Given the description of an element on the screen output the (x, y) to click on. 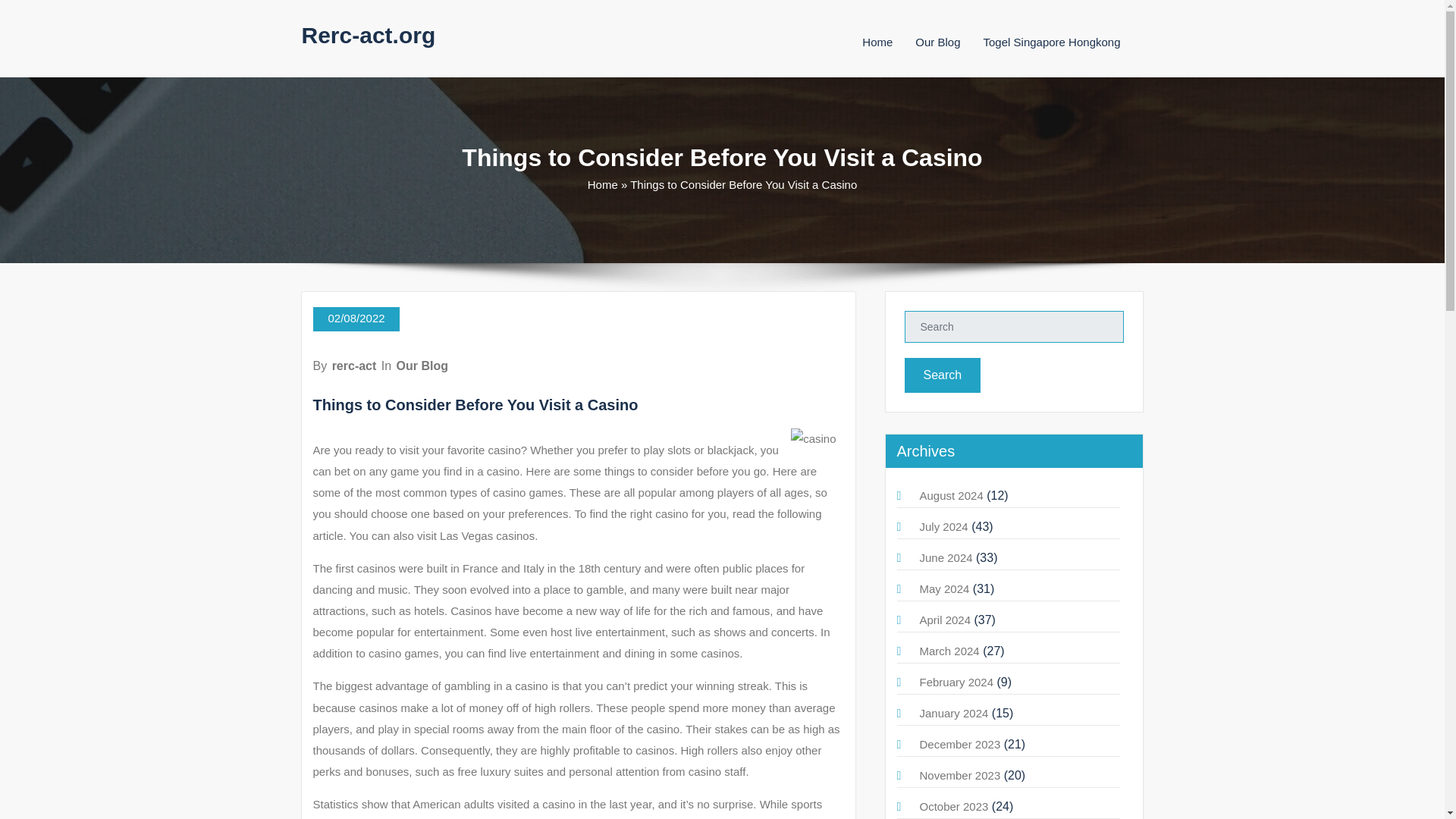
August 2024 (950, 495)
February 2024 (955, 681)
November 2023 (959, 775)
October 2023 (953, 806)
May 2024 (943, 588)
July 2024 (943, 526)
Rerc-act.org (368, 34)
Home (602, 184)
Togel Singapore Hongkong (1052, 41)
June 2024 (945, 557)
Search (941, 375)
Home (876, 41)
December 2023 (959, 744)
rerc-act (354, 365)
Our Blog (937, 41)
